Given the description of an element on the screen output the (x, y) to click on. 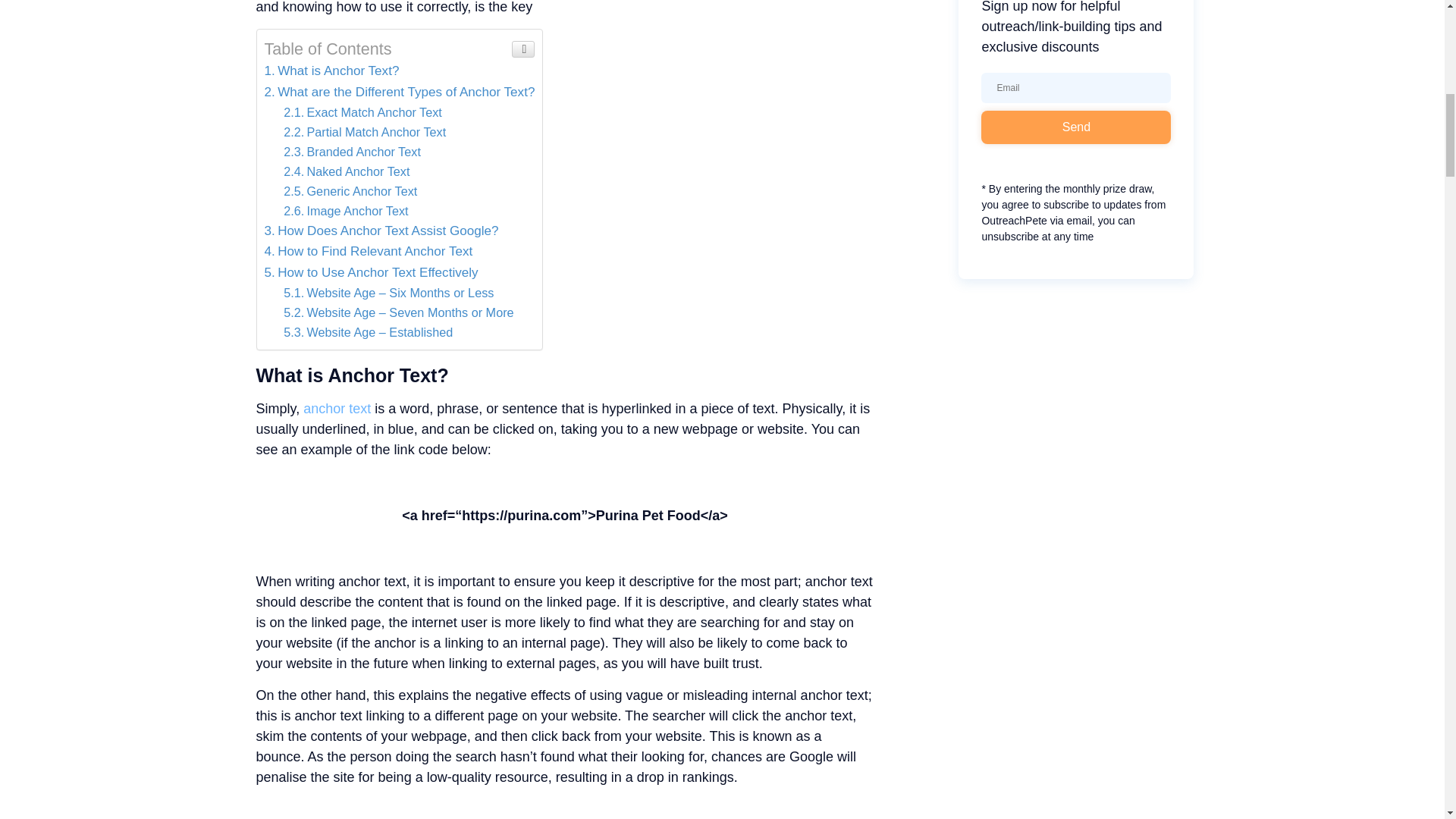
Exact Match Anchor Text (362, 111)
Branded Anchor Text (351, 151)
Exact Match Anchor Text (362, 111)
Partial Match Anchor Text (364, 131)
How to Find Relevant Anchor Text (367, 251)
How Does Anchor Text Assist Google? (380, 230)
Image Anchor Text (346, 210)
Partial Match Anchor Text (364, 131)
What is Anchor Text? (330, 70)
What are the Different Types of Anchor Text? (398, 92)
Image Anchor Text (346, 210)
How Does Anchor Text Assist Google? (380, 230)
How to Use Anchor Text Effectively (370, 272)
How to Find Relevant Anchor Text (367, 251)
How to Use Anchor Text Effectively (370, 272)
